Given the description of an element on the screen output the (x, y) to click on. 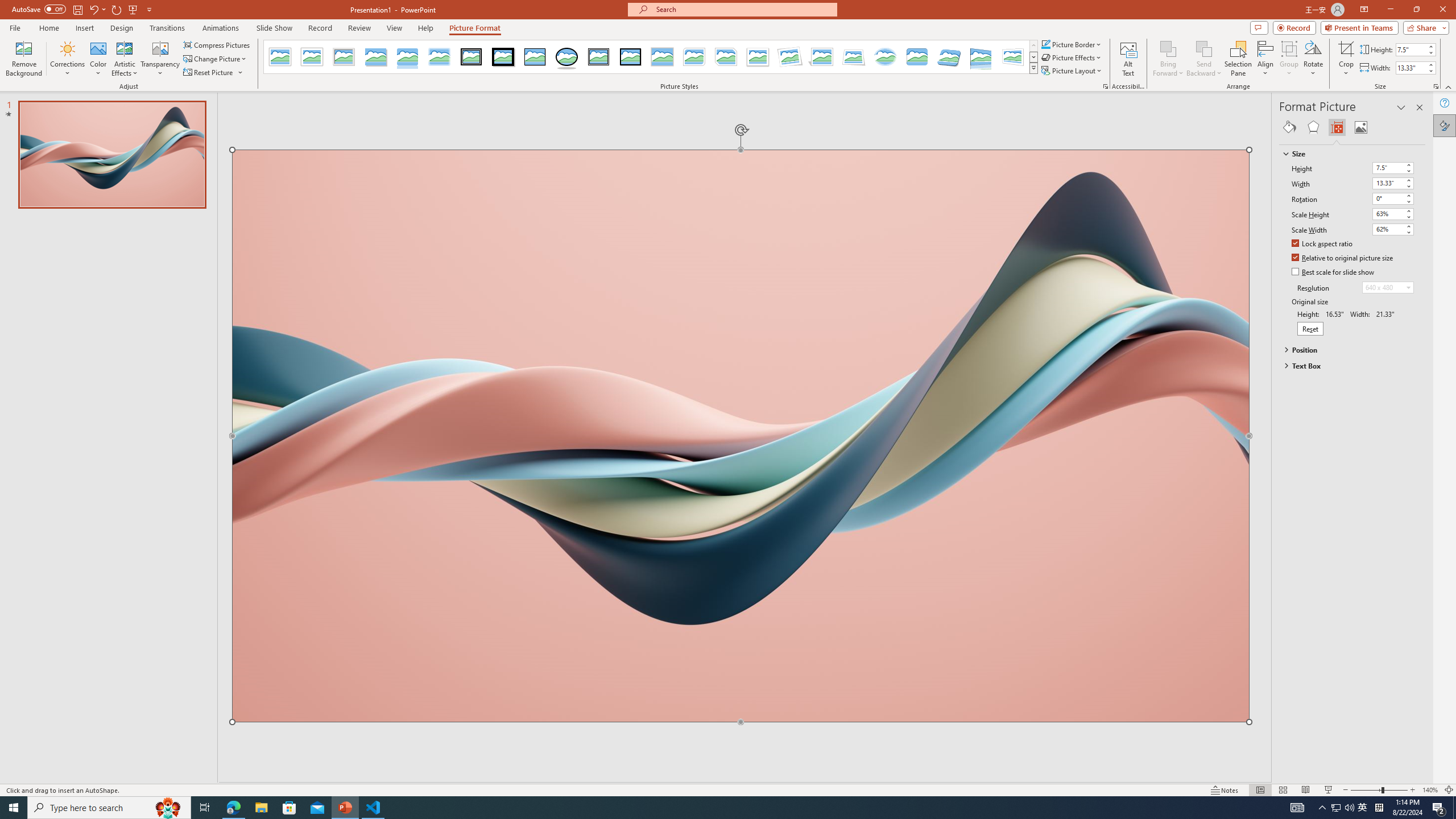
Zoom 140% (1430, 790)
Lock aspect ratio (1322, 244)
Resolution (1387, 287)
Soft Edge Rectangle (439, 56)
Relaxed Perspective, White (853, 56)
Bevel Rectangle (917, 56)
Width (1388, 182)
